Given the description of an element on the screen output the (x, y) to click on. 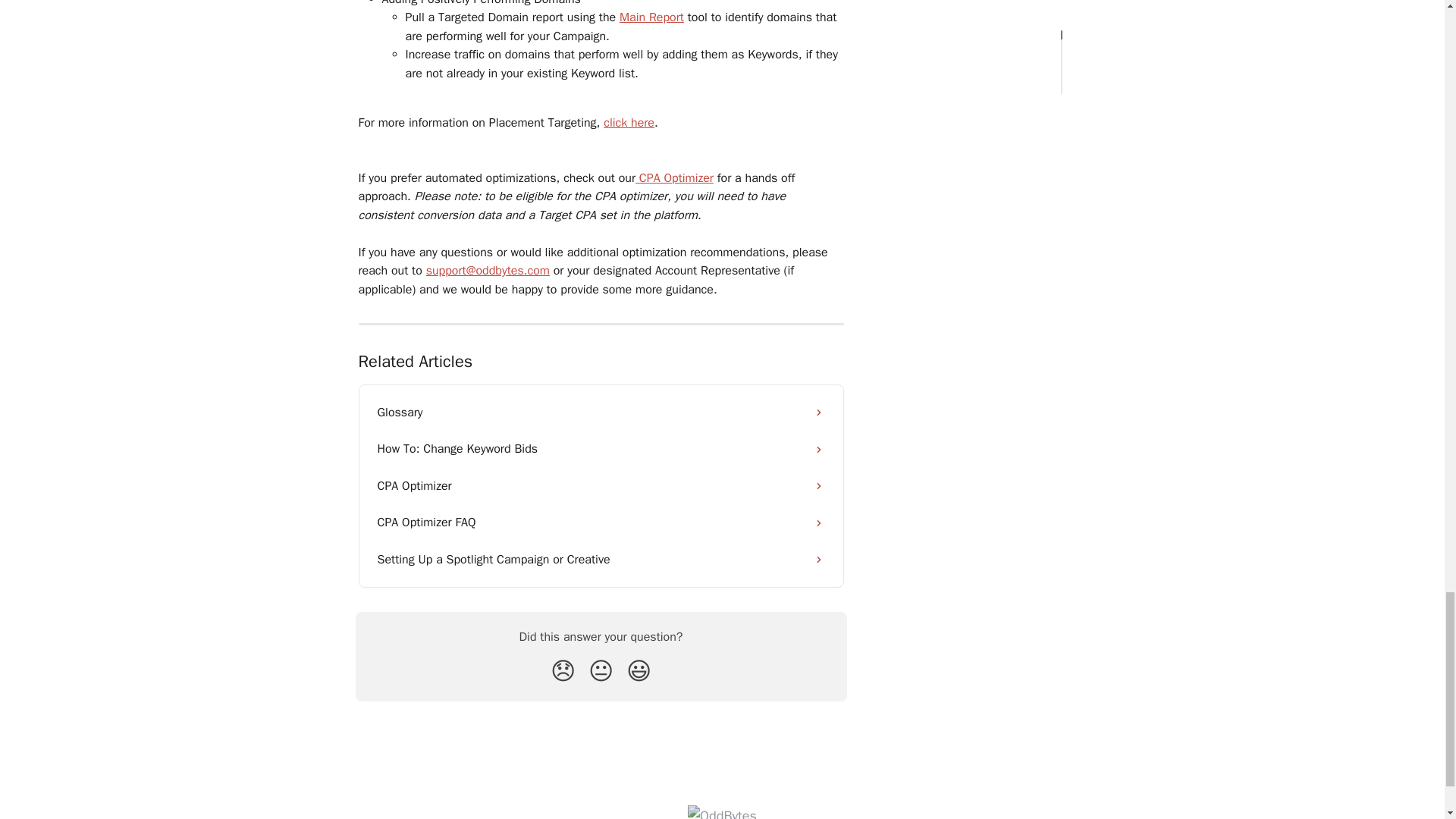
Neutral (600, 671)
CPA Optimizer (601, 485)
Disappointed (562, 671)
CPA Optimizer FAQ (601, 522)
click here (628, 122)
CPA Optimizer (673, 177)
How To: Change Keyword Bids (601, 448)
Smiley (638, 671)
Setting Up a Spotlight Campaign or Creative (601, 559)
Glossary (601, 411)
Main Report (652, 17)
